Given the description of an element on the screen output the (x, y) to click on. 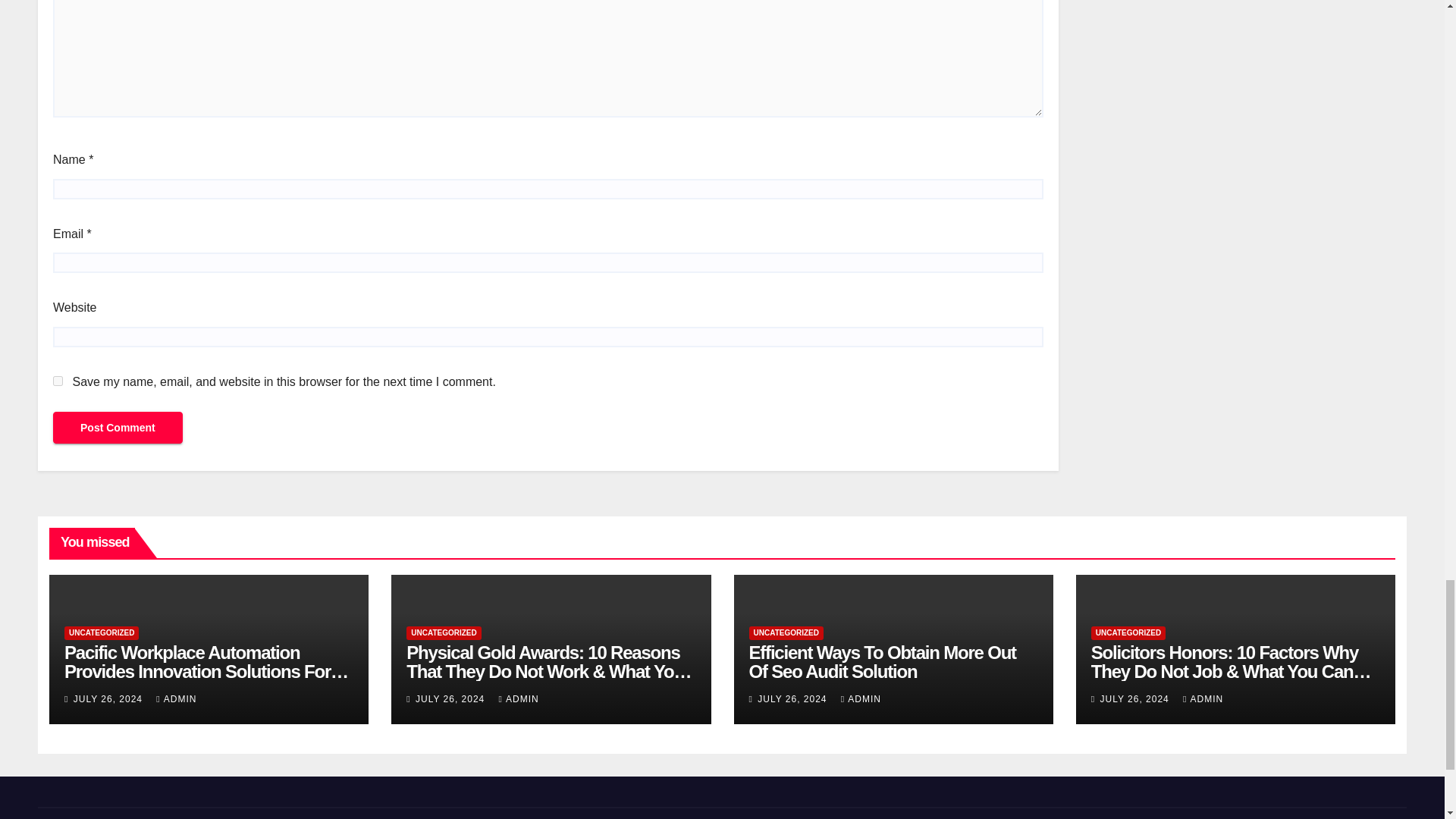
yes (57, 380)
Post Comment (117, 427)
Post Comment (117, 427)
